Given the description of an element on the screen output the (x, y) to click on. 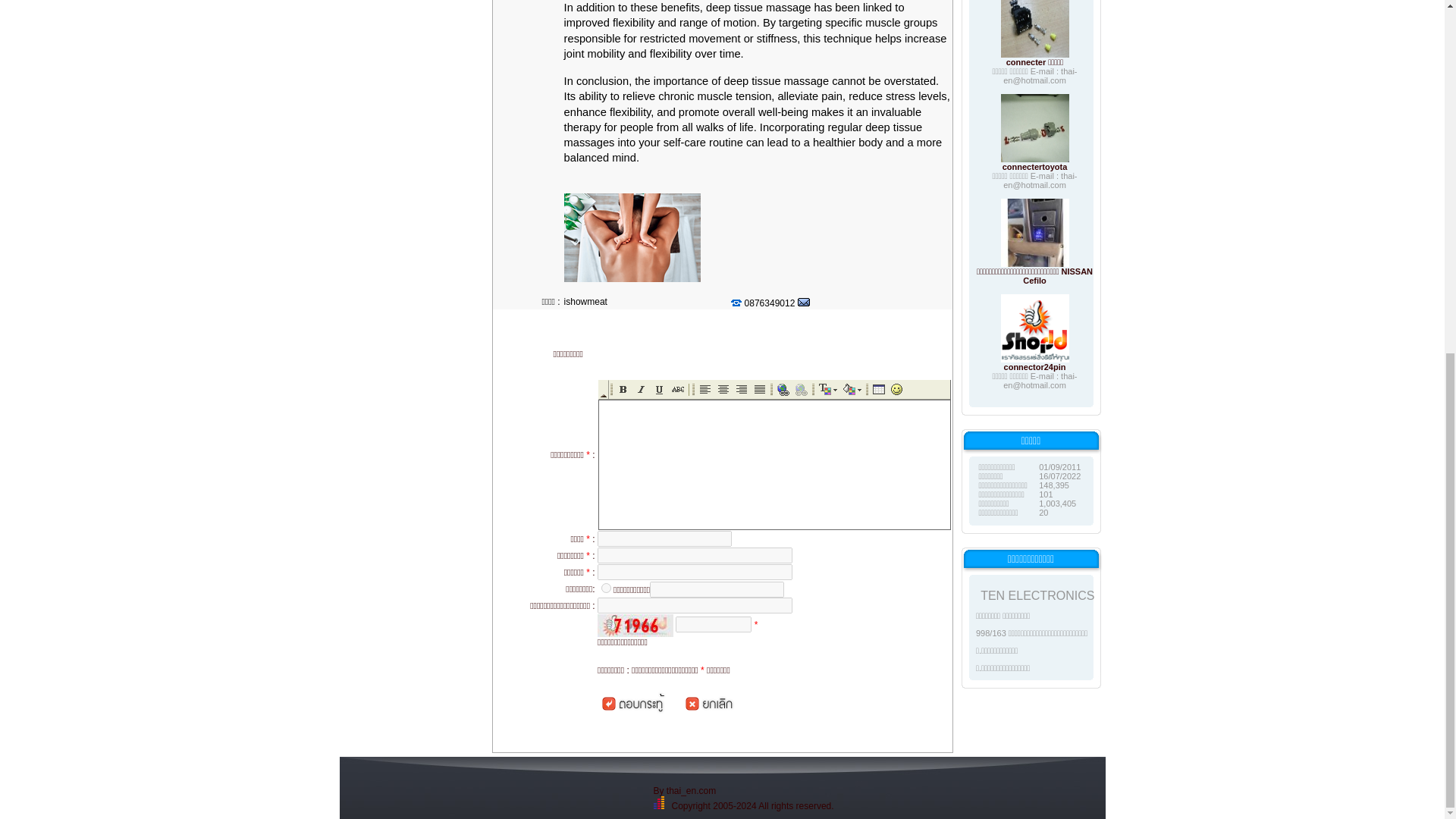
connectertoyota (1035, 166)
ShopOwner (606, 587)
